Given the description of an element on the screen output the (x, y) to click on. 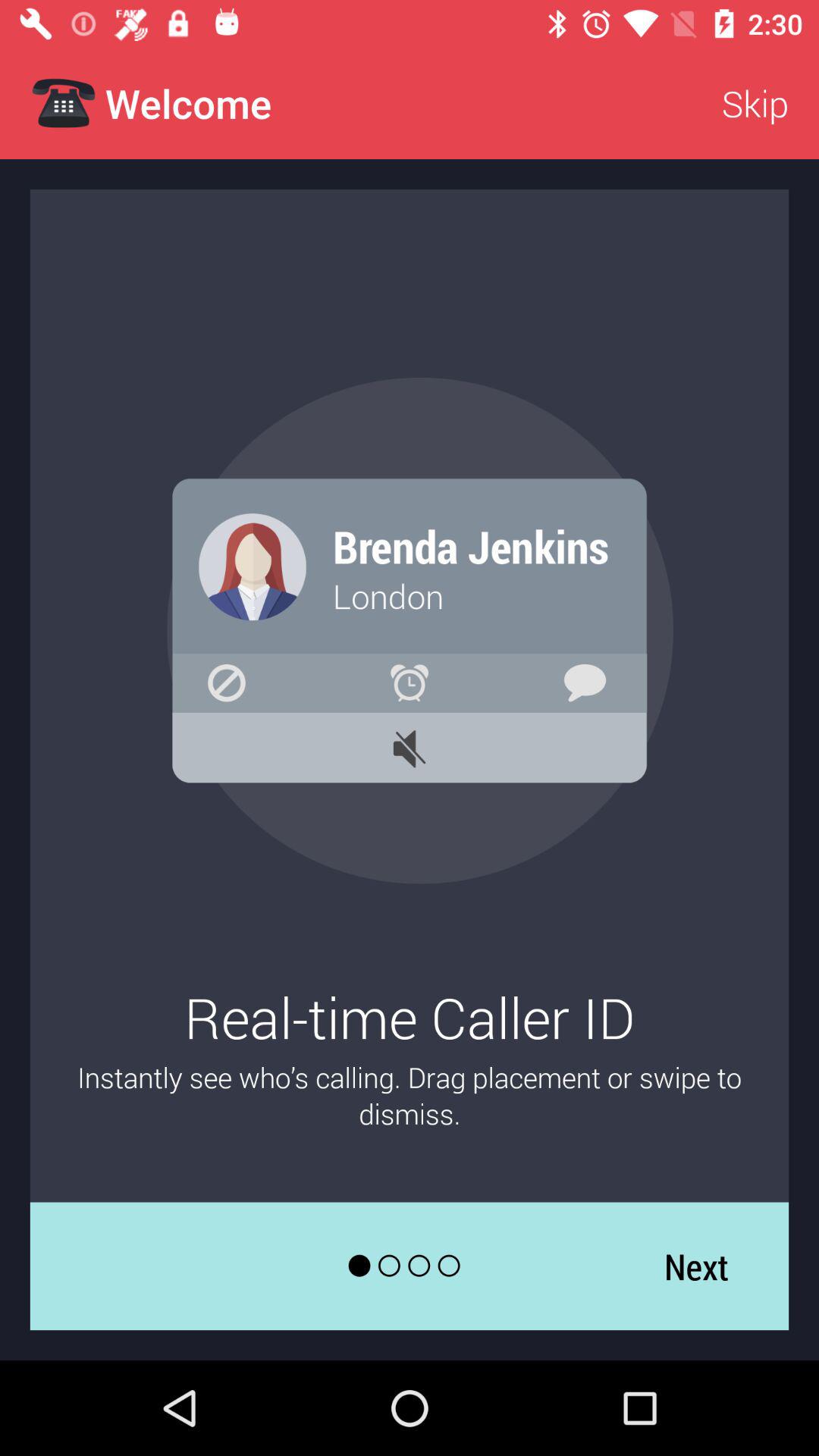
open the skip item (755, 103)
